Given the description of an element on the screen output the (x, y) to click on. 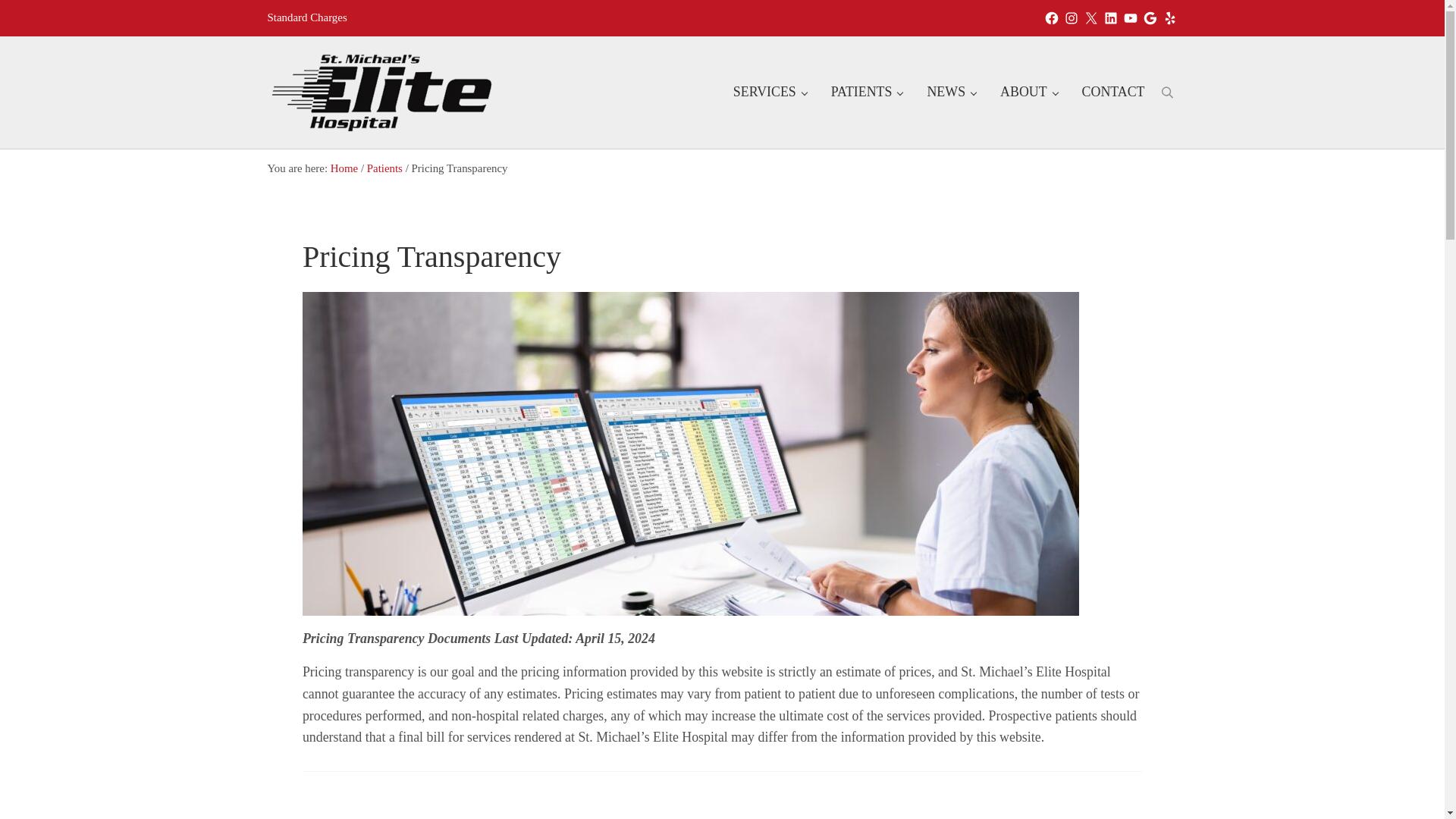
SERVICES (769, 92)
PATIENTS (866, 92)
LinkedIn (1110, 17)
X (1090, 17)
Facebook (1050, 17)
YouTube (1129, 17)
Yelp (1168, 17)
Instagram (1070, 17)
Google (1149, 17)
Standard Charges (306, 17)
